Given the description of an element on the screen output the (x, y) to click on. 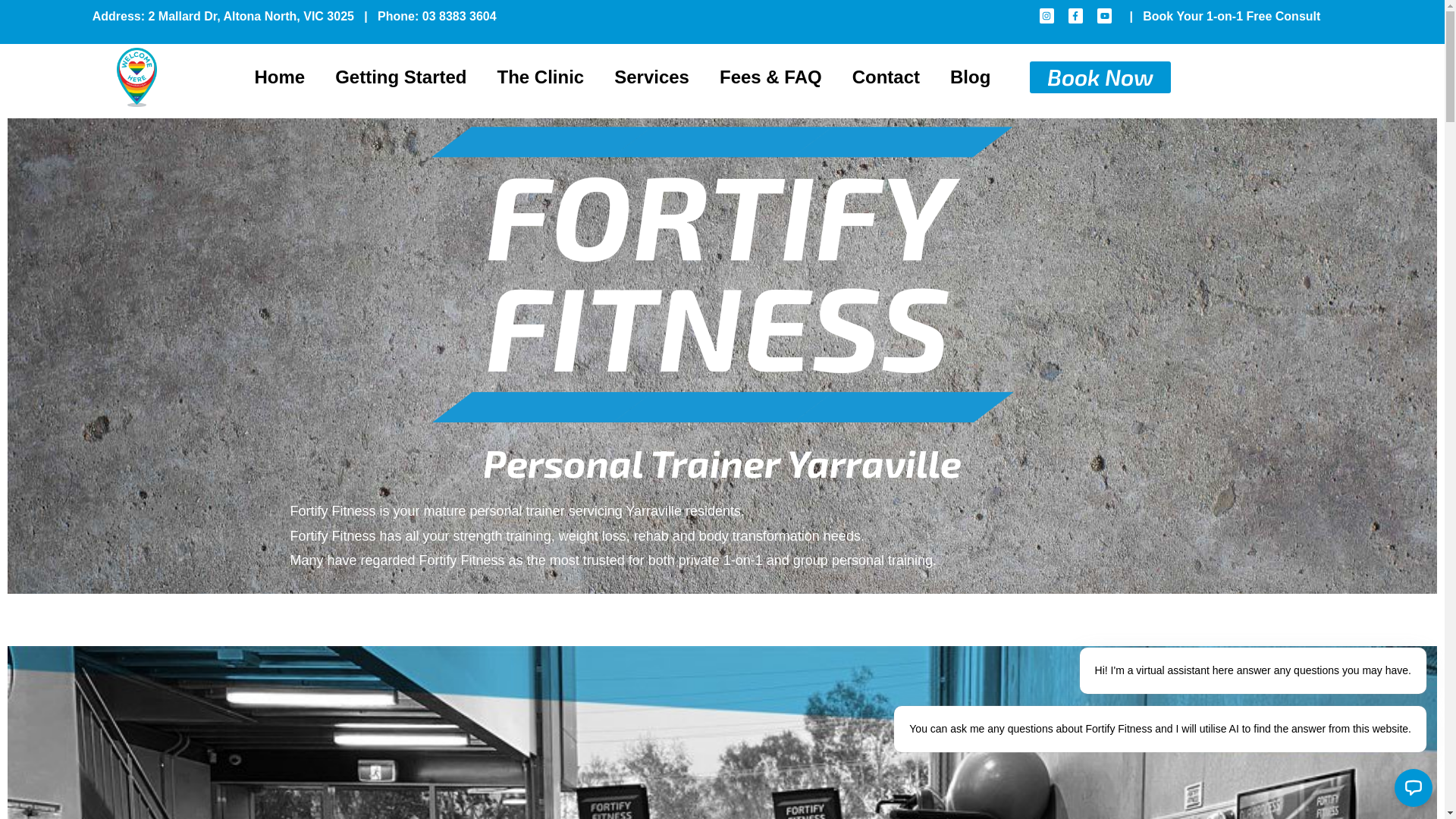
Phone: 03 8383 3604 Element type: text (436, 15)
|   Book Your 1-on-1 Free Consult Element type: text (1224, 15)
The Clinic Element type: text (540, 76)
Getting Started Element type: text (400, 76)
Services Element type: text (651, 76)
Fees & FAQ Element type: text (770, 76)
Contact Element type: text (886, 76)
Blog Element type: text (970, 76)
Home Element type: text (279, 76)
Book Now Element type: text (1099, 77)
2 Mallard Dr, Altona North, VIC 3025 Element type: text (250, 15)
